Given the description of an element on the screen output the (x, y) to click on. 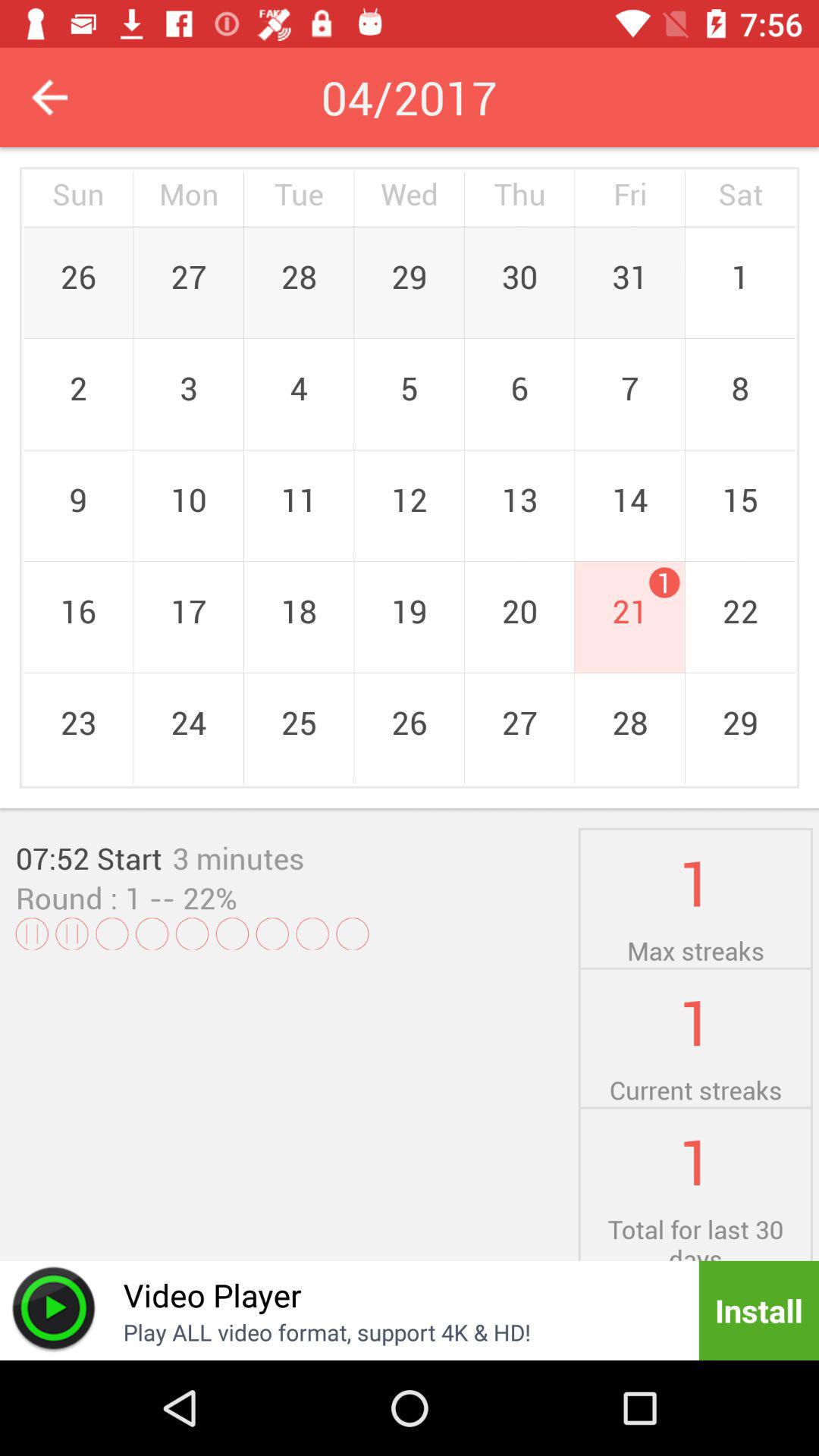
choose the icon next to the 1 icon (238, 858)
